Given the description of an element on the screen output the (x, y) to click on. 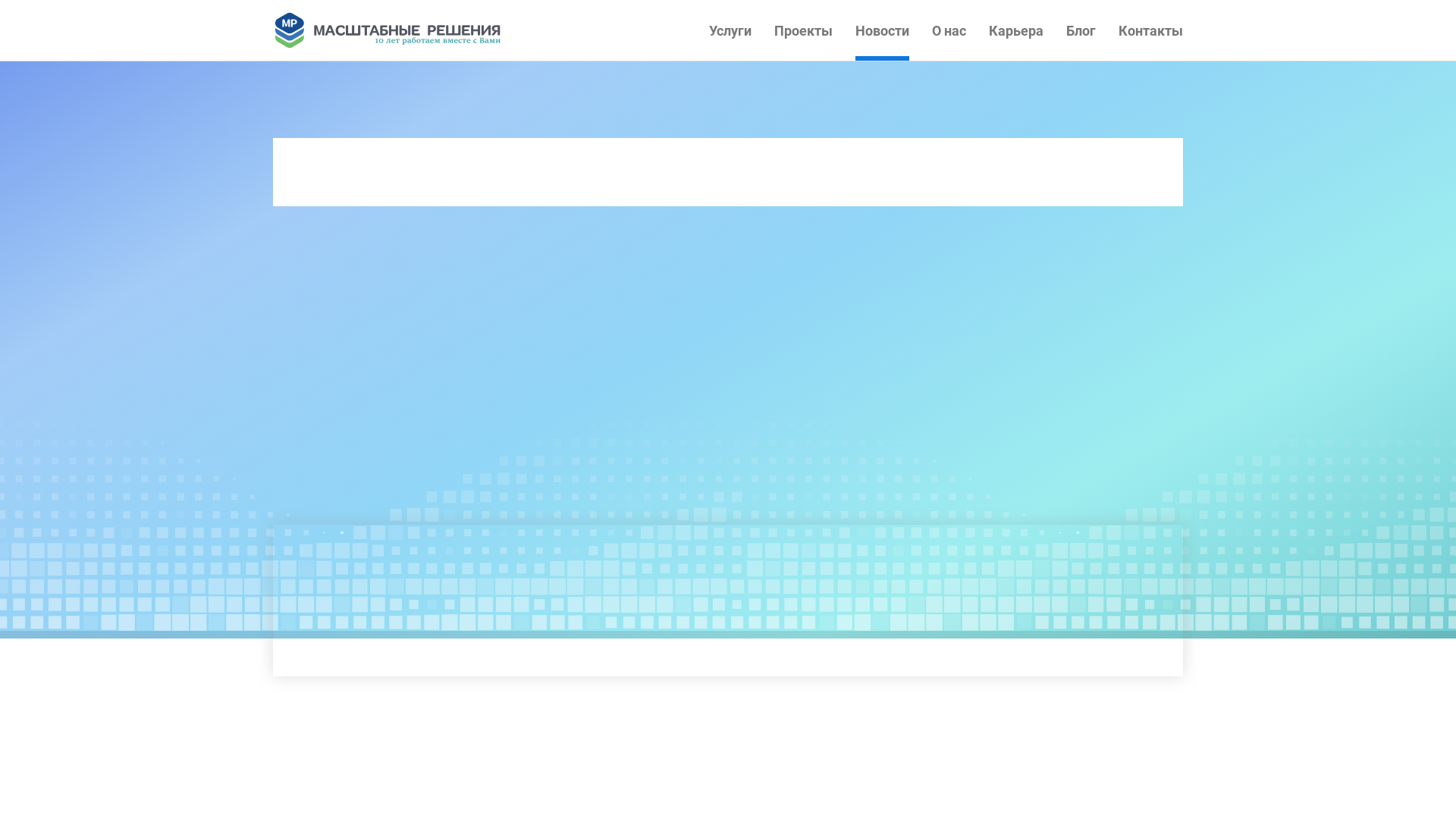
+375 (17) 396-68-87 Element type: text (687, 259)
+375 (17) 396-68-83 Element type: text (687, 275)
